Given the description of an element on the screen output the (x, y) to click on. 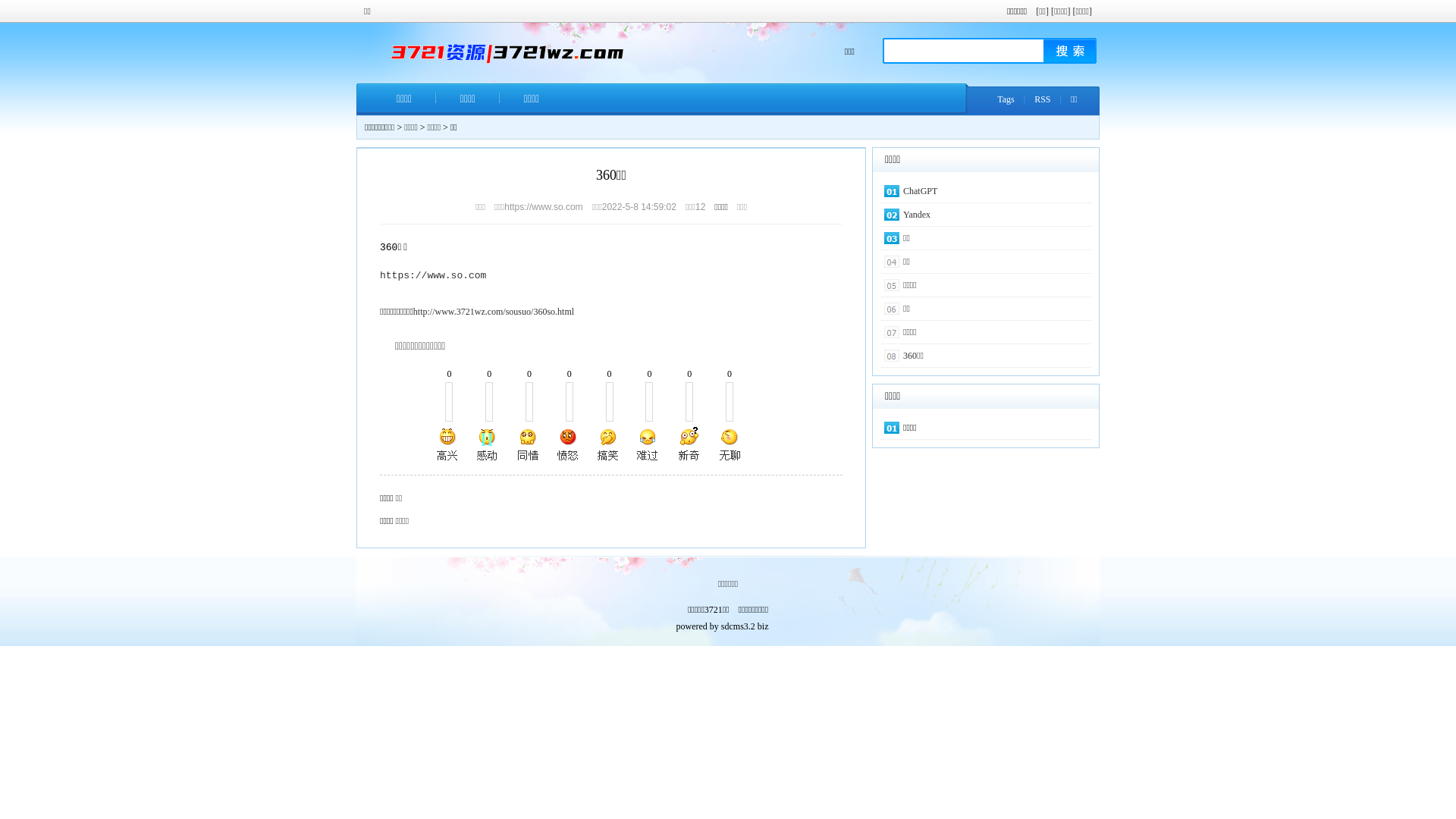
http://www.3721wz.com/sousuo/360so.html Element type: text (493, 311)
ChatGPT Element type: text (920, 190)
Tags Element type: text (1005, 99)
https://www.so.com Element type: text (432, 274)
RSS Element type: text (1042, 99)
Yandex Element type: text (916, 214)
